Given the description of an element on the screen output the (x, y) to click on. 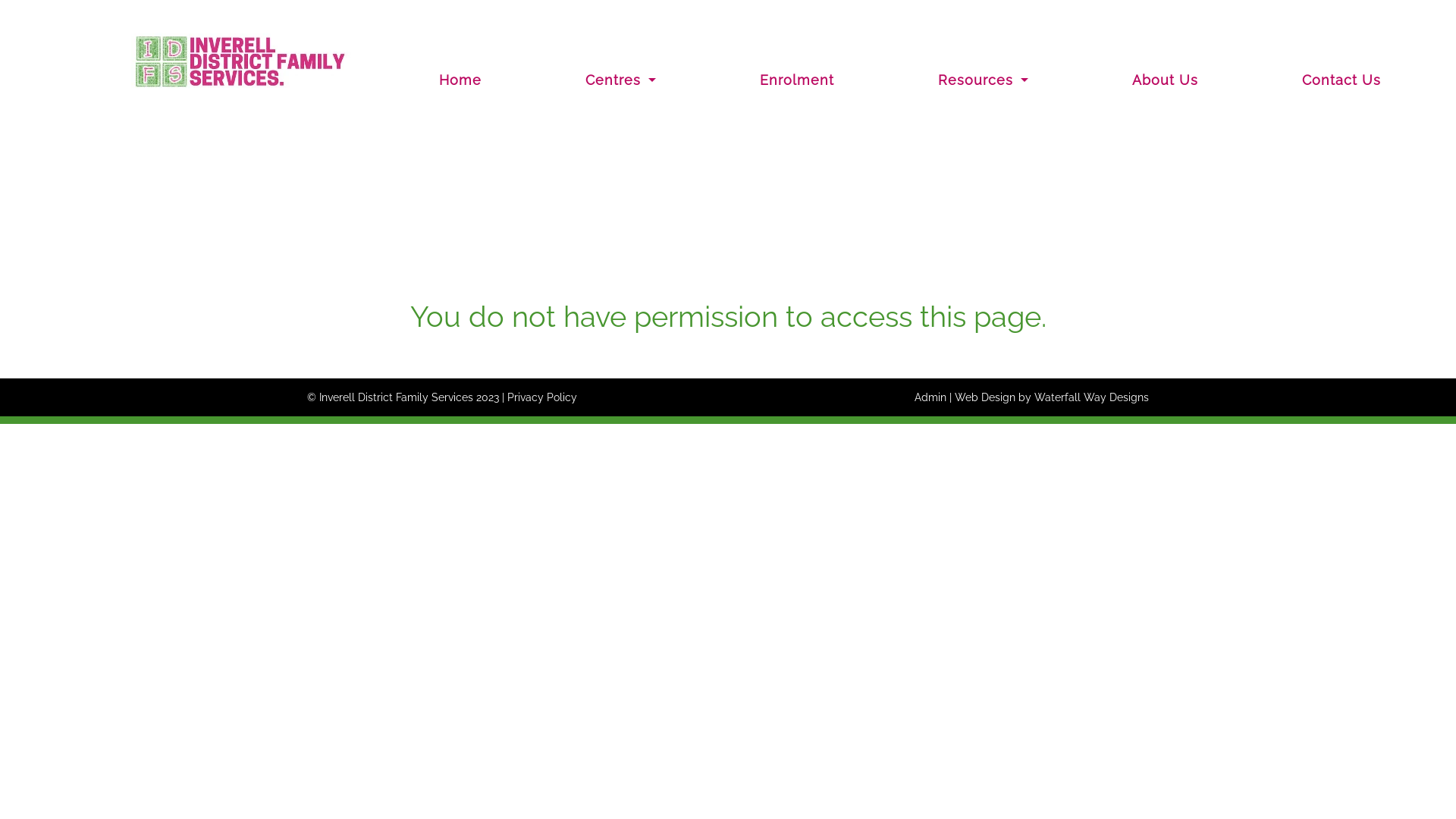
Centres Element type: text (620, 79)
Admin Element type: text (930, 397)
Home Element type: text (460, 79)
Privacy Policy Element type: text (542, 397)
Contact Us Element type: text (1340, 79)
About Us Element type: text (1165, 79)
Waterfall Way Designs Element type: text (1091, 397)
Resources Element type: text (982, 79)
Enrolment Element type: text (797, 79)
